Given the description of an element on the screen output the (x, y) to click on. 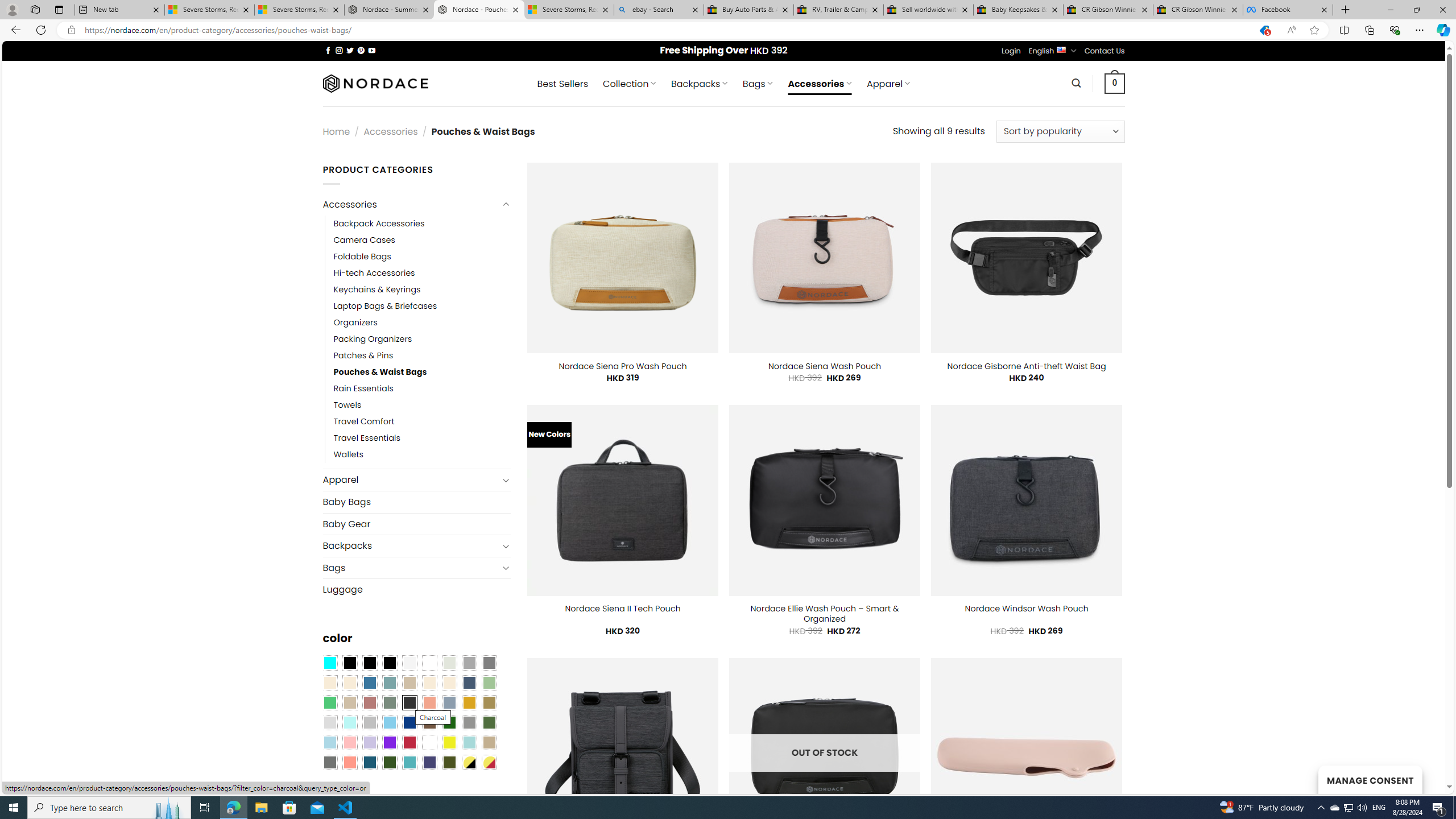
Foldable Bags (362, 256)
Beige-Brown (349, 681)
Pink (349, 741)
Pouches & Waist Bags (379, 371)
Camera Cases (363, 239)
Charcoal (408, 702)
Buy Auto Parts & Accessories | eBay (747, 9)
Accessories (410, 204)
Khaki (488, 741)
  0   (1115, 83)
Aqua Blue (329, 662)
